Given the description of an element on the screen output the (x, y) to click on. 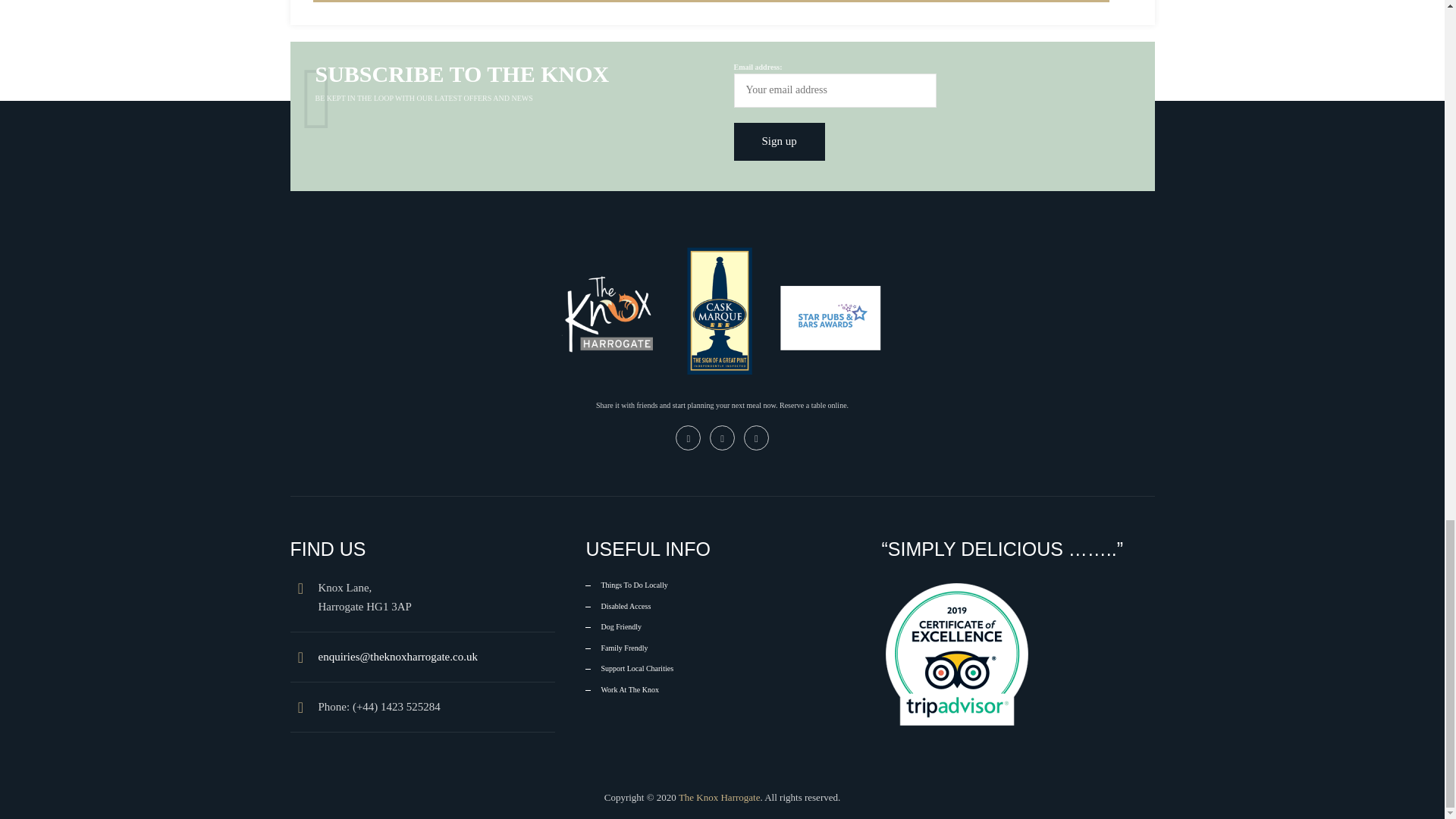
The Knox Harrogate (719, 797)
Support Local Charities (628, 668)
Things To Do Locally (625, 585)
Work At The Knox (622, 689)
Sign up (779, 140)
Disabled Access (617, 606)
Dog Friendly (613, 626)
Family Frendly (616, 648)
Sign up (779, 140)
